Given the description of an element on the screen output the (x, y) to click on. 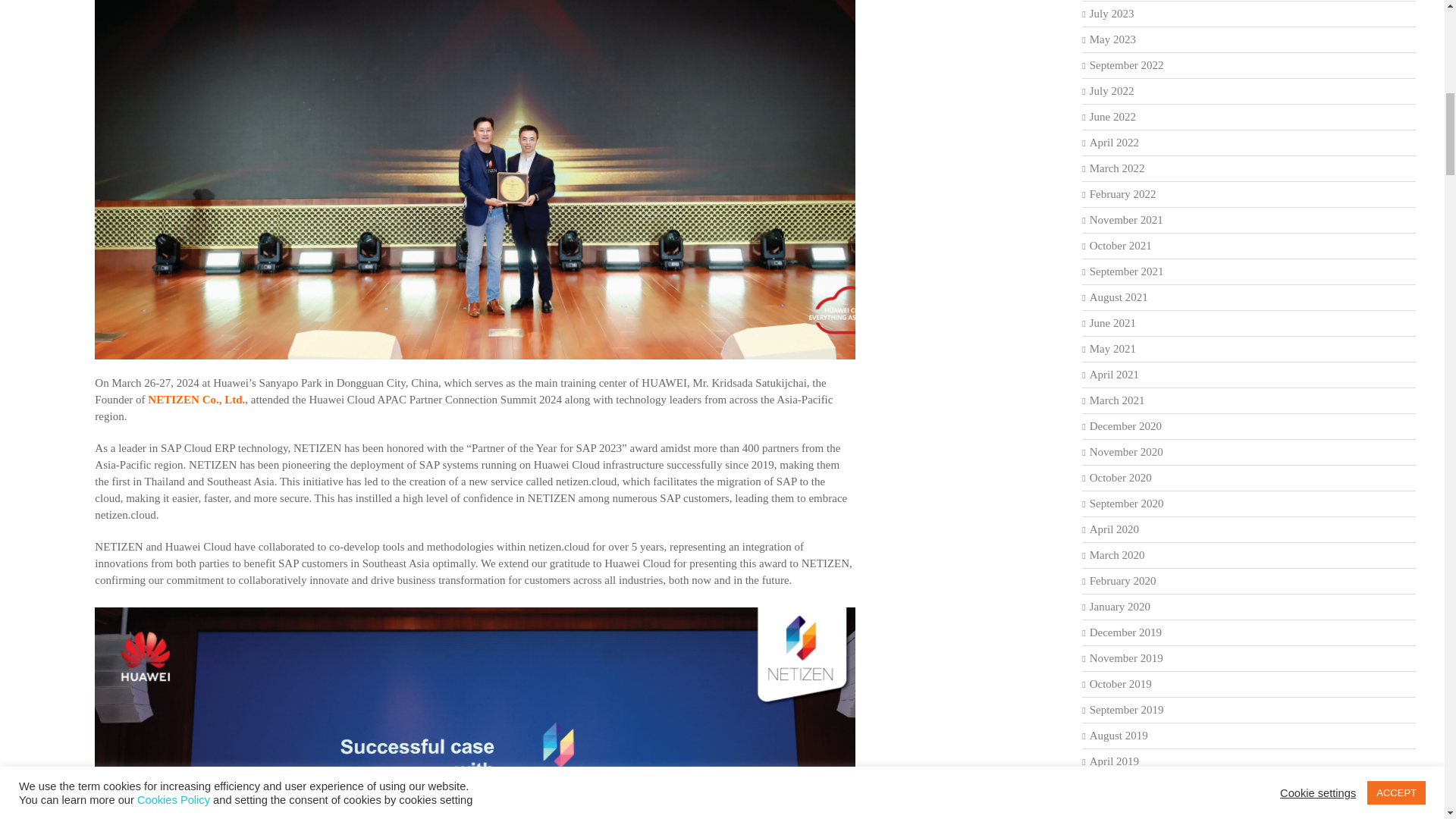
May 2023 (1112, 39)
September 2022 (1126, 64)
July 2023 (1111, 13)
